Given the description of an element on the screen output the (x, y) to click on. 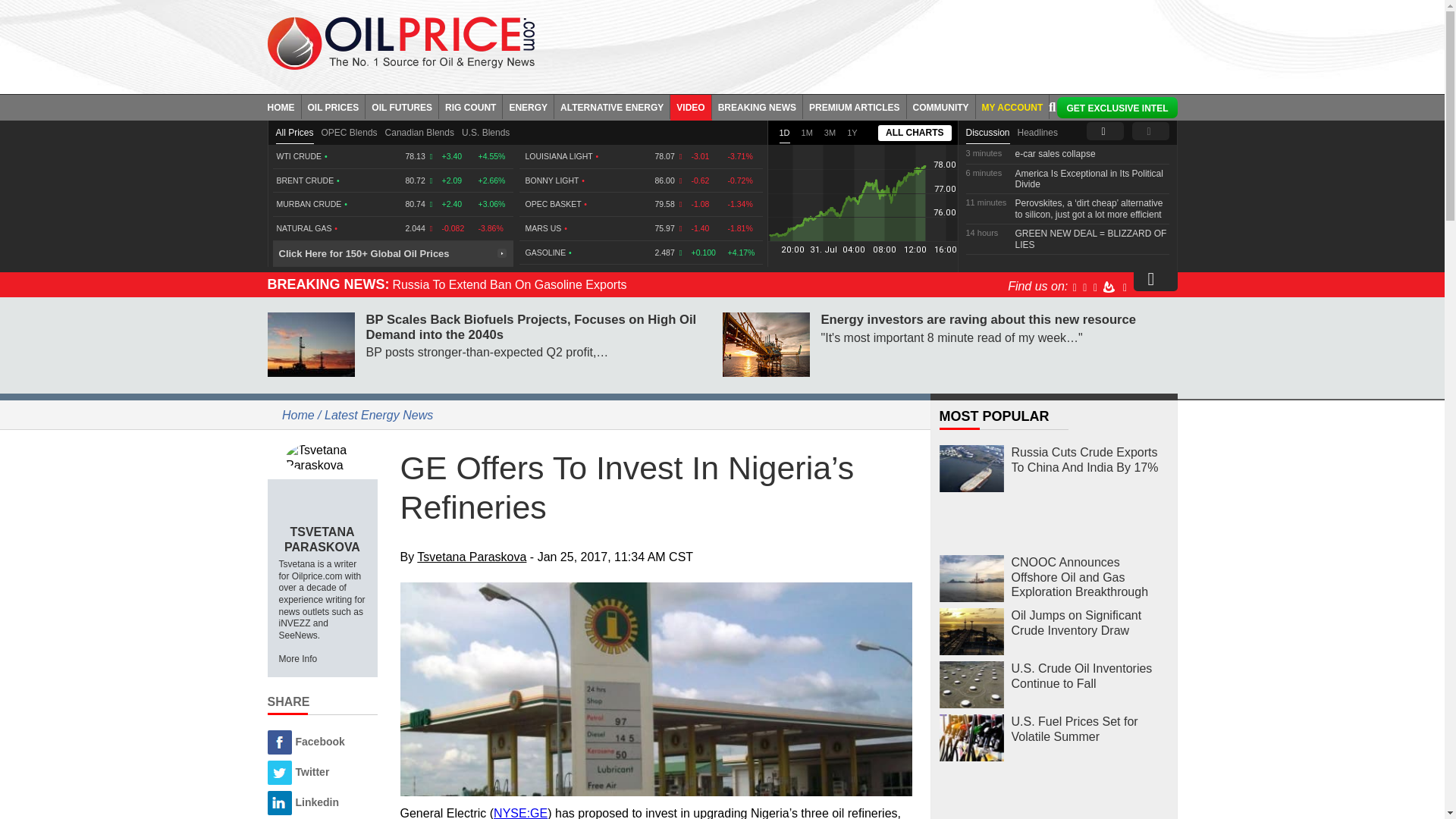
BREAKING NEWS (757, 106)
U.S. Crude Oil Inventories Continue to Fall (971, 684)
Oil Jumps on Significant Crude Inventory Draw (971, 632)
VIDEO (690, 106)
OIL FUTURES (402, 106)
OIL PRICES (333, 106)
Oil prices - Oilprice.com (400, 42)
U.S. Fuel Prices Set for Volatile Summer (971, 738)
Tsvetana Paraskova (321, 457)
RIG COUNT (470, 106)
PREMIUM ARTICLES (855, 106)
COMMUNITY (941, 106)
HOME (283, 106)
MY ACCOUNT (1012, 106)
